Given the description of an element on the screen output the (x, y) to click on. 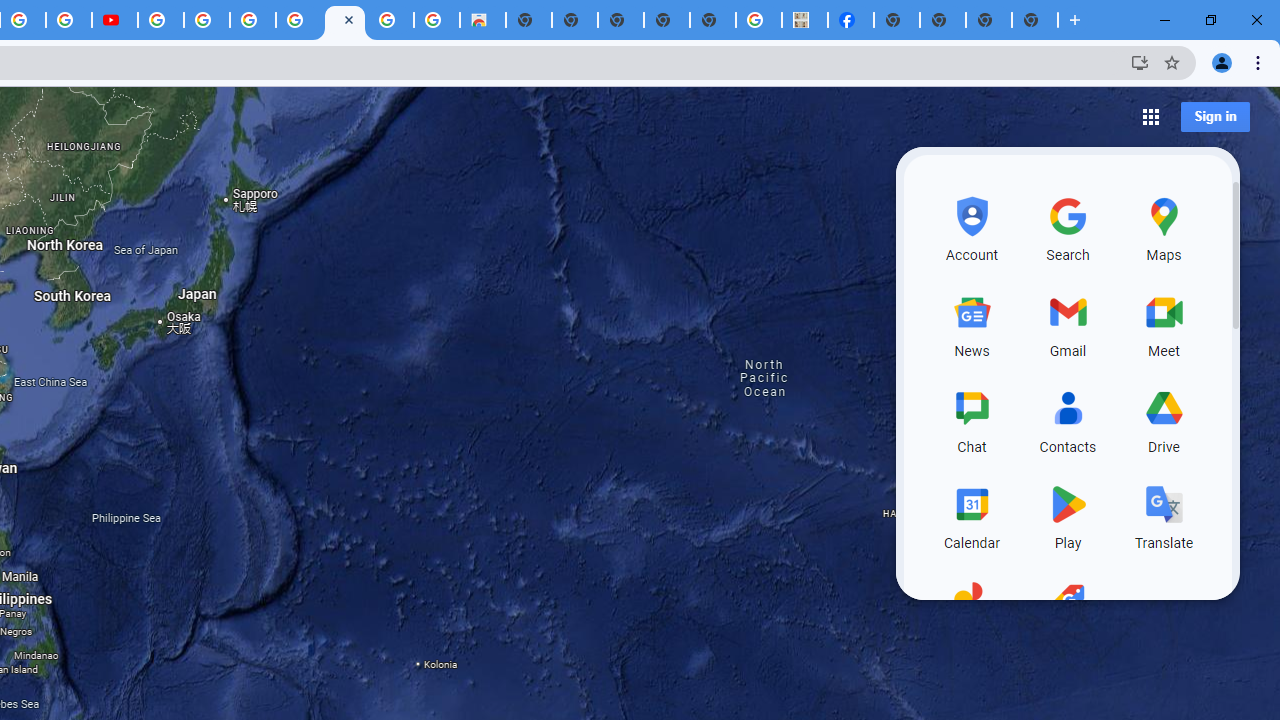
Google apps (1150, 115)
Install Google Maps (1139, 62)
New Tab (1035, 20)
Google Maps (345, 20)
